Given the description of an element on the screen output the (x, y) to click on. 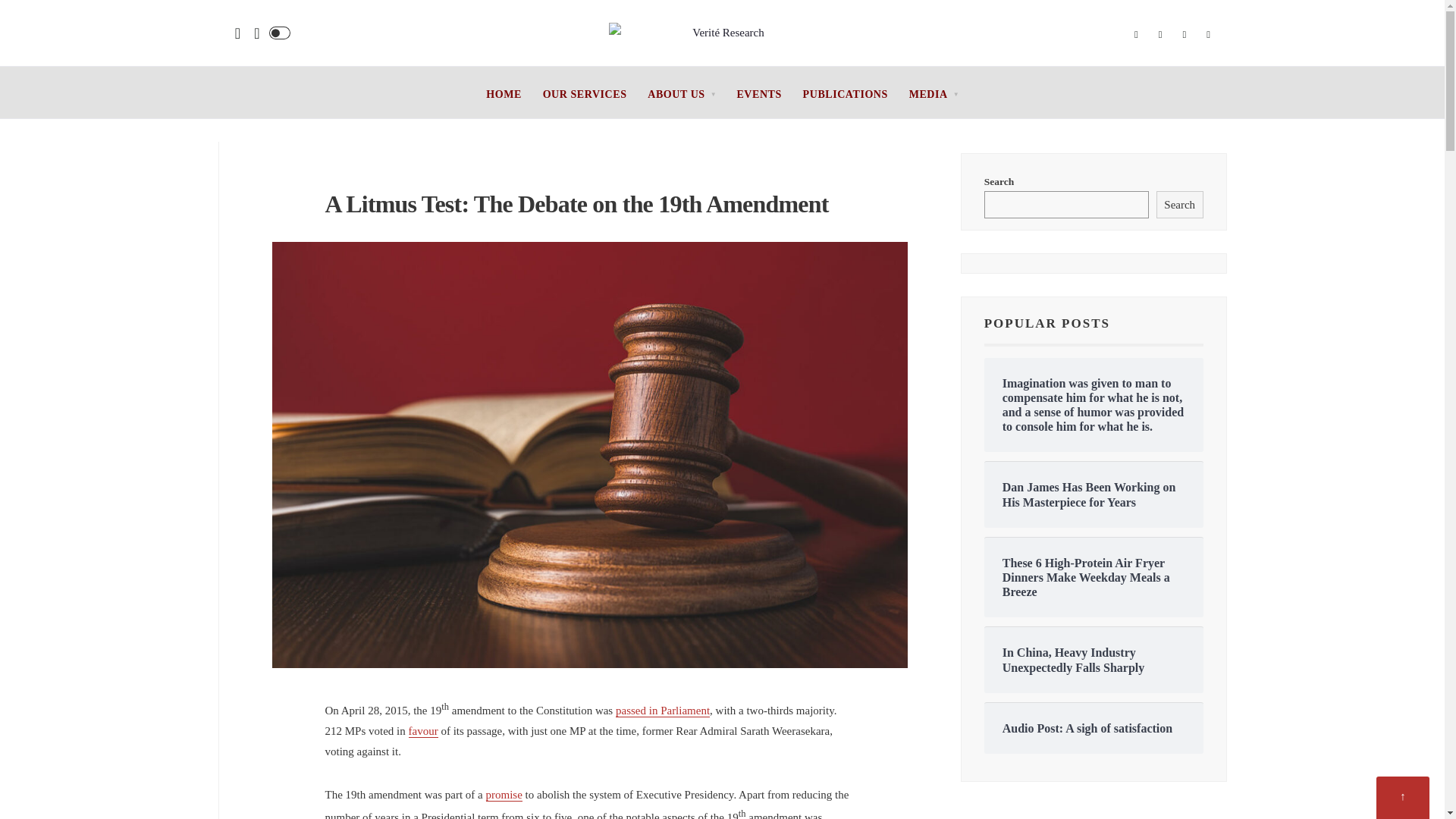
Scroll to top (1402, 797)
PUBLICATIONS (845, 94)
YouTube (1209, 34)
EVENTS (758, 94)
favour (423, 730)
Twitter (1160, 34)
Instagram (1184, 34)
HOME (503, 94)
passed in Parliament (662, 710)
promise (504, 794)
